Given the description of an element on the screen output the (x, y) to click on. 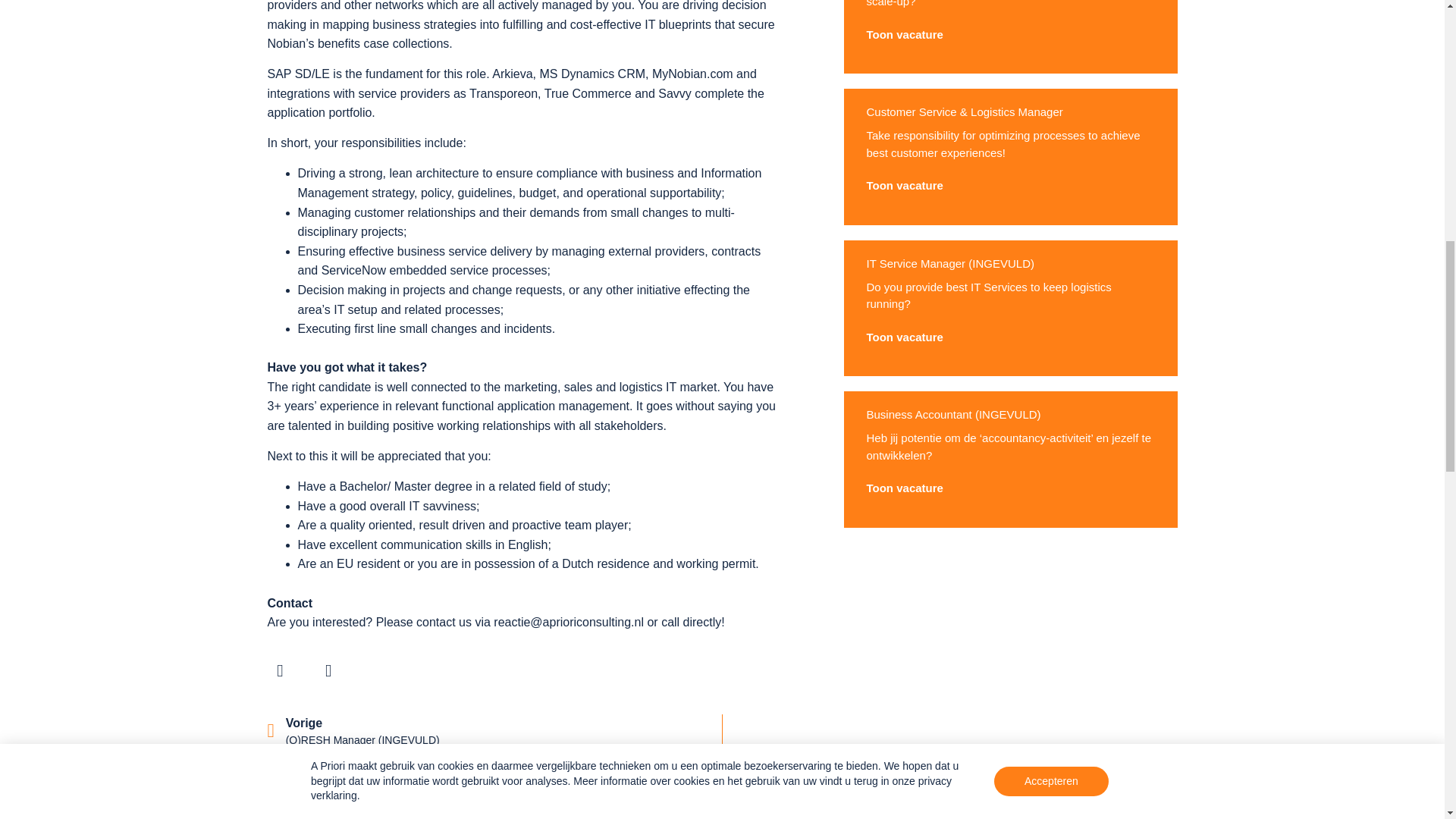
Toon vacature (904, 185)
Toon vacature (904, 35)
Toon vacature (904, 488)
Toon vacature (904, 337)
